Given the description of an element on the screen output the (x, y) to click on. 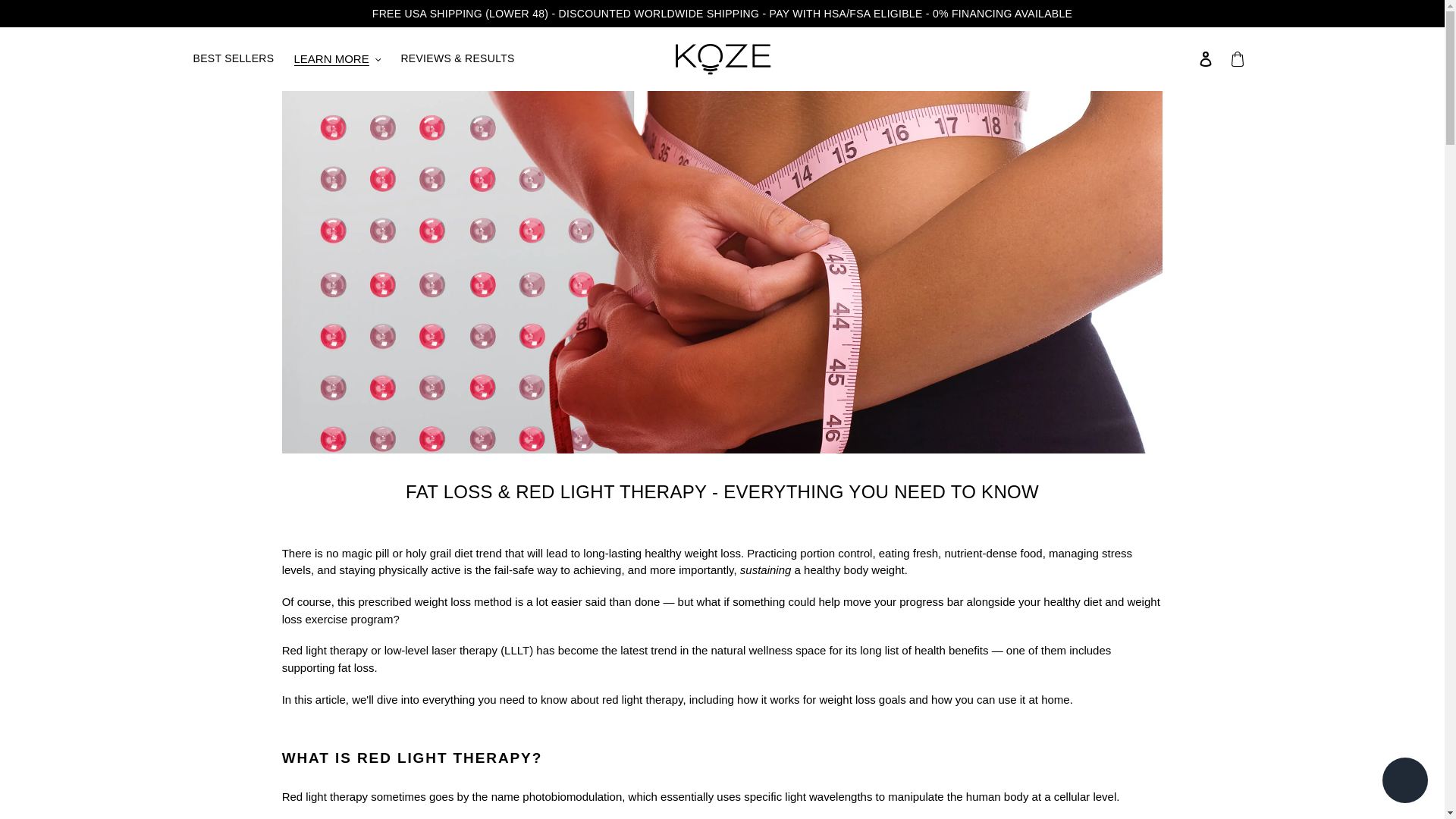
Shopify online store chat (1404, 781)
BEST SELLERS (232, 58)
Log in (1205, 59)
Cart (1236, 59)
LEARN MORE (337, 59)
